Given the description of an element on the screen output the (x, y) to click on. 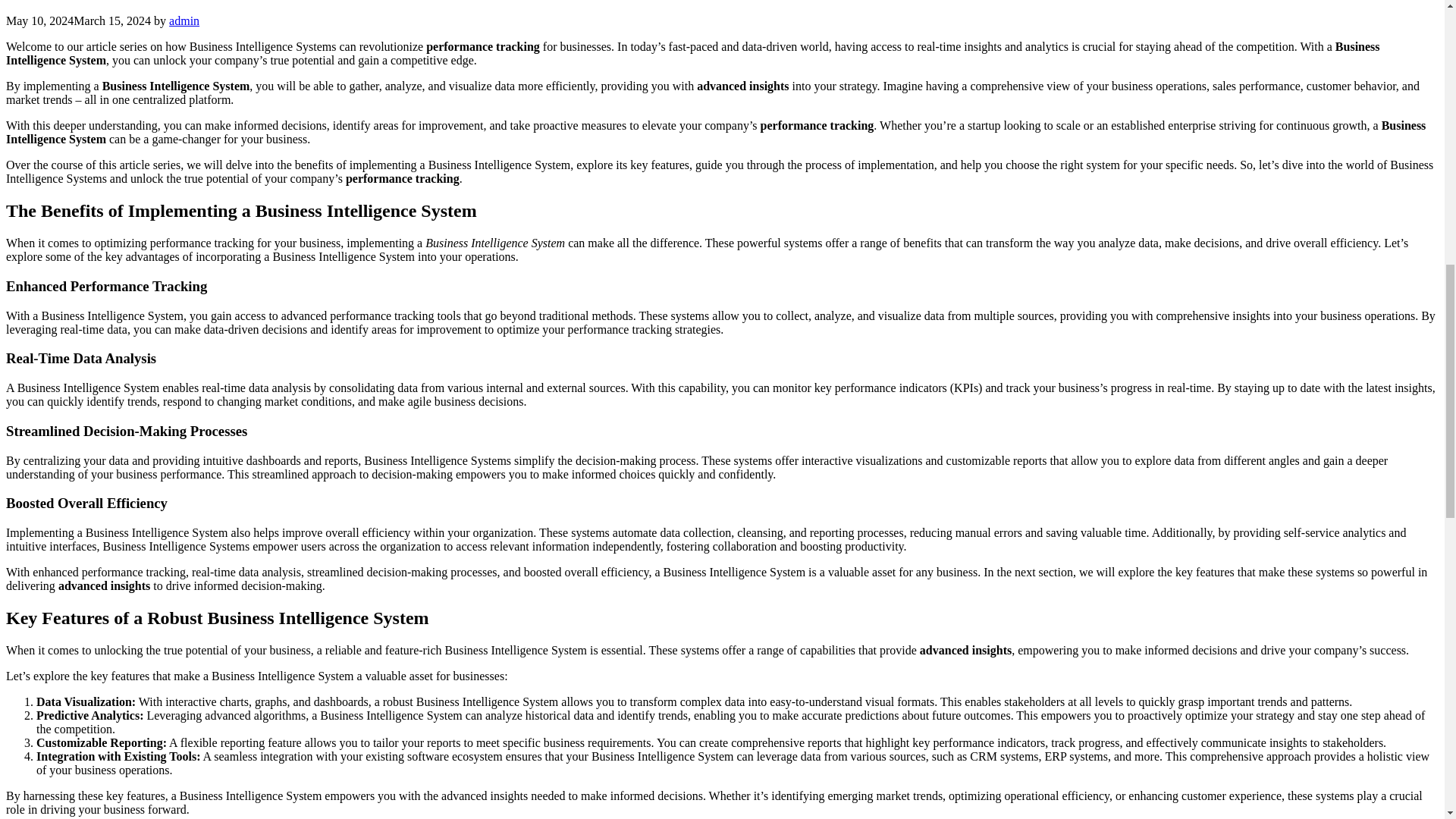
View all posts by admin (183, 20)
admin (183, 20)
